Given the description of an element on the screen output the (x, y) to click on. 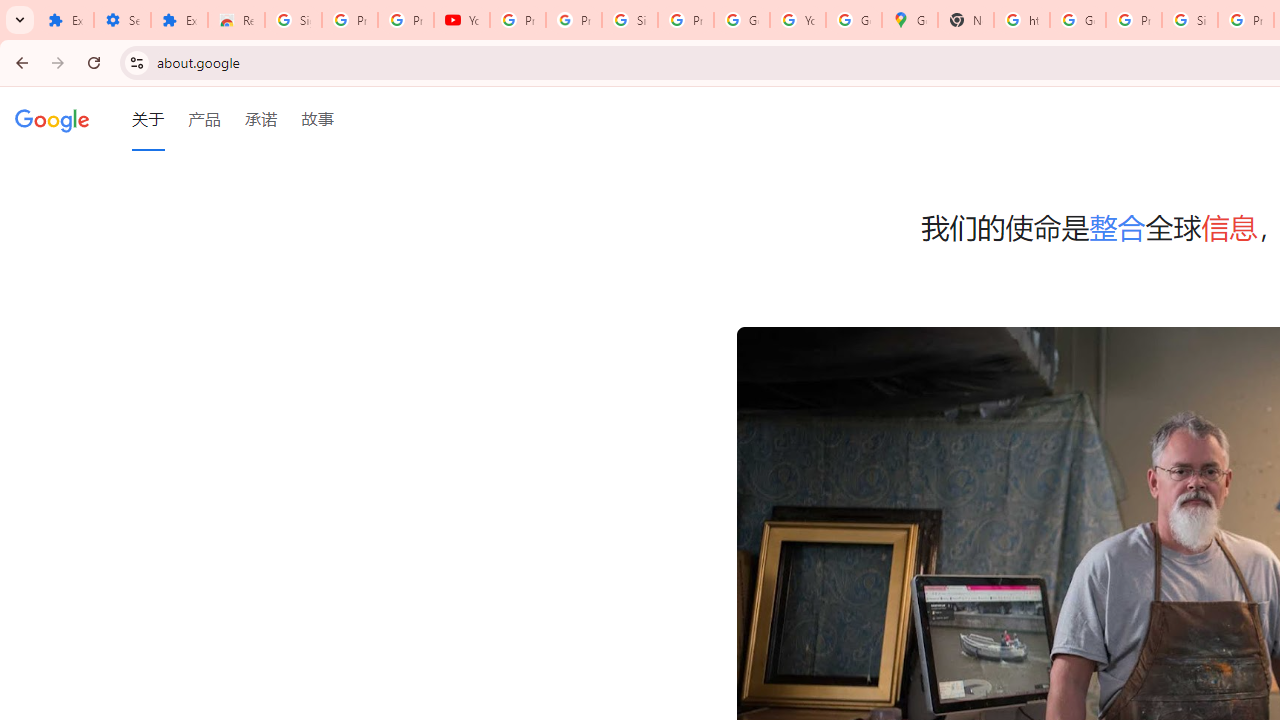
Google (52, 119)
